Given the description of an element on the screen output the (x, y) to click on. 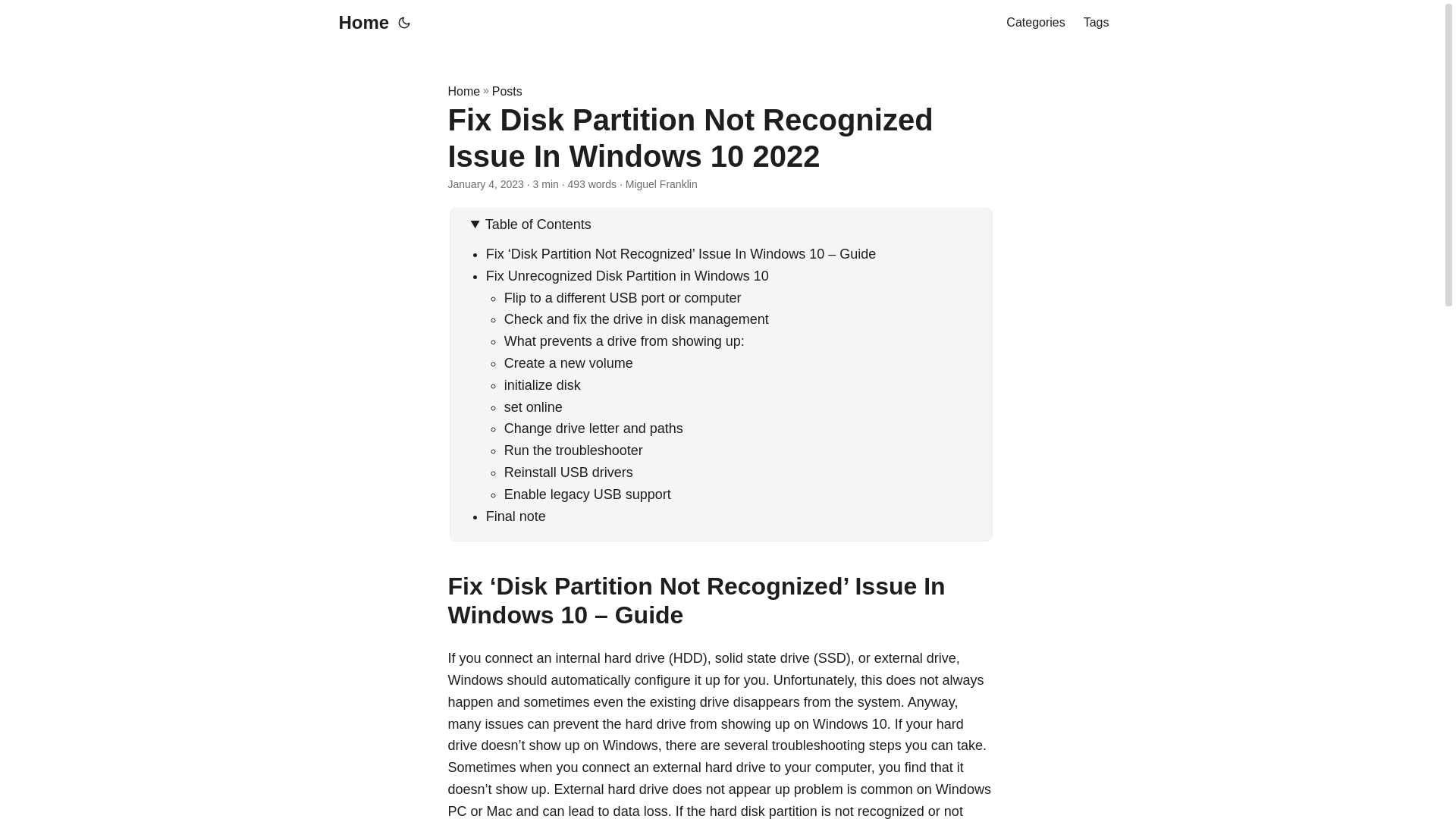
What prevents a drive from showing up: (623, 340)
initialize disk (541, 385)
Final note (516, 516)
Home (359, 22)
Change drive letter and paths (592, 427)
Fix Unrecognized Disk Partition in Windows 10 (627, 275)
Enable legacy USB support (587, 494)
Home (463, 91)
Flip to a different USB port or computer (622, 297)
set online (532, 406)
